Given the description of an element on the screen output the (x, y) to click on. 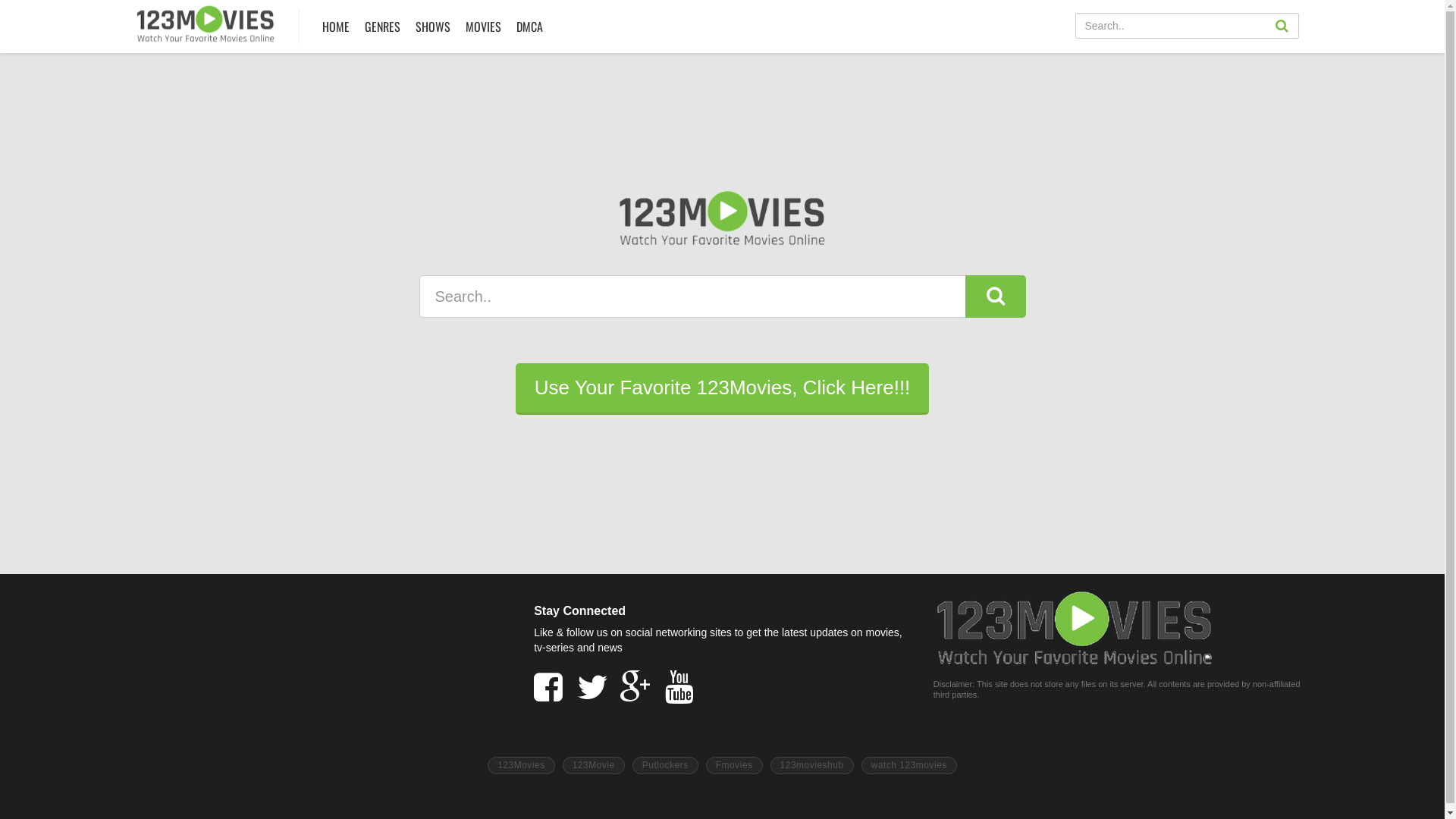
GENRES Element type: text (382, 26)
Use Your Favorite 123Movies, Click Here!!! Element type: text (722, 388)
watch 123movies Element type: text (909, 765)
Putlockers Element type: text (665, 765)
MOVIES Element type: text (482, 26)
123Movie Element type: text (593, 765)
123Movies Element type: text (521, 765)
HOME Element type: text (335, 26)
SHOWS Element type: text (432, 26)
123movieshub Element type: text (811, 765)
Fmovies Element type: text (734, 765)
DMCA Element type: text (529, 26)
